Given the description of an element on the screen output the (x, y) to click on. 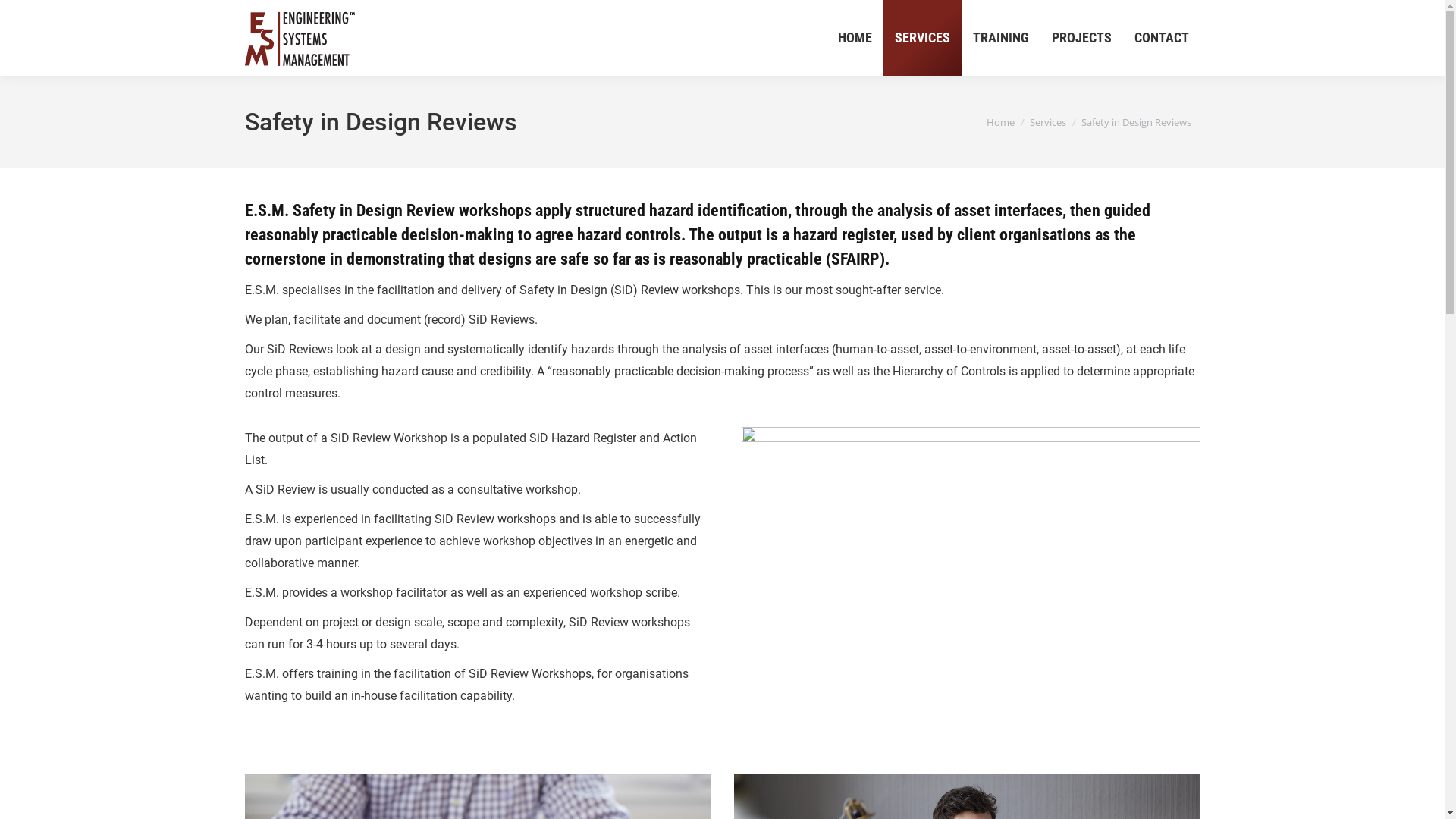
PROJECTS Element type: text (1081, 37)
Home Element type: text (999, 121)
SERVICES Element type: text (921, 37)
TRAINING Element type: text (1000, 37)
CONTACT Element type: text (1160, 37)
HOME Element type: text (854, 37)
ESM_EngineerManagement_1 Element type: hover (970, 579)
Services Element type: text (1047, 121)
